Given the description of an element on the screen output the (x, y) to click on. 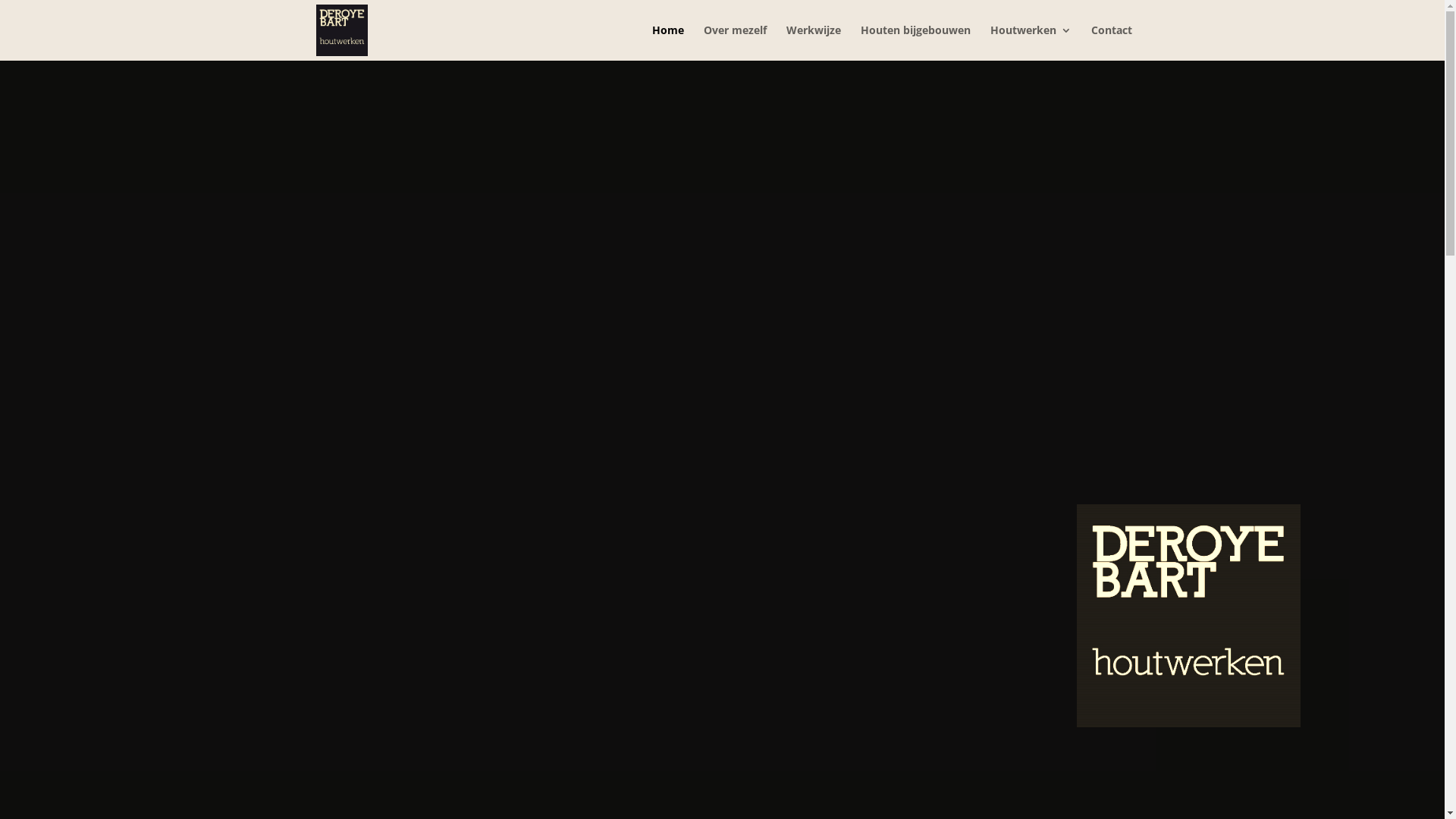
Over mezelf Element type: text (734, 42)
Home Element type: text (668, 42)
Werkwijze Element type: text (812, 42)
Houtwerken Element type: text (1030, 42)
Houten bijgebouwen Element type: text (914, 42)
Contact Element type: text (1110, 42)
